Given the description of an element on the screen output the (x, y) to click on. 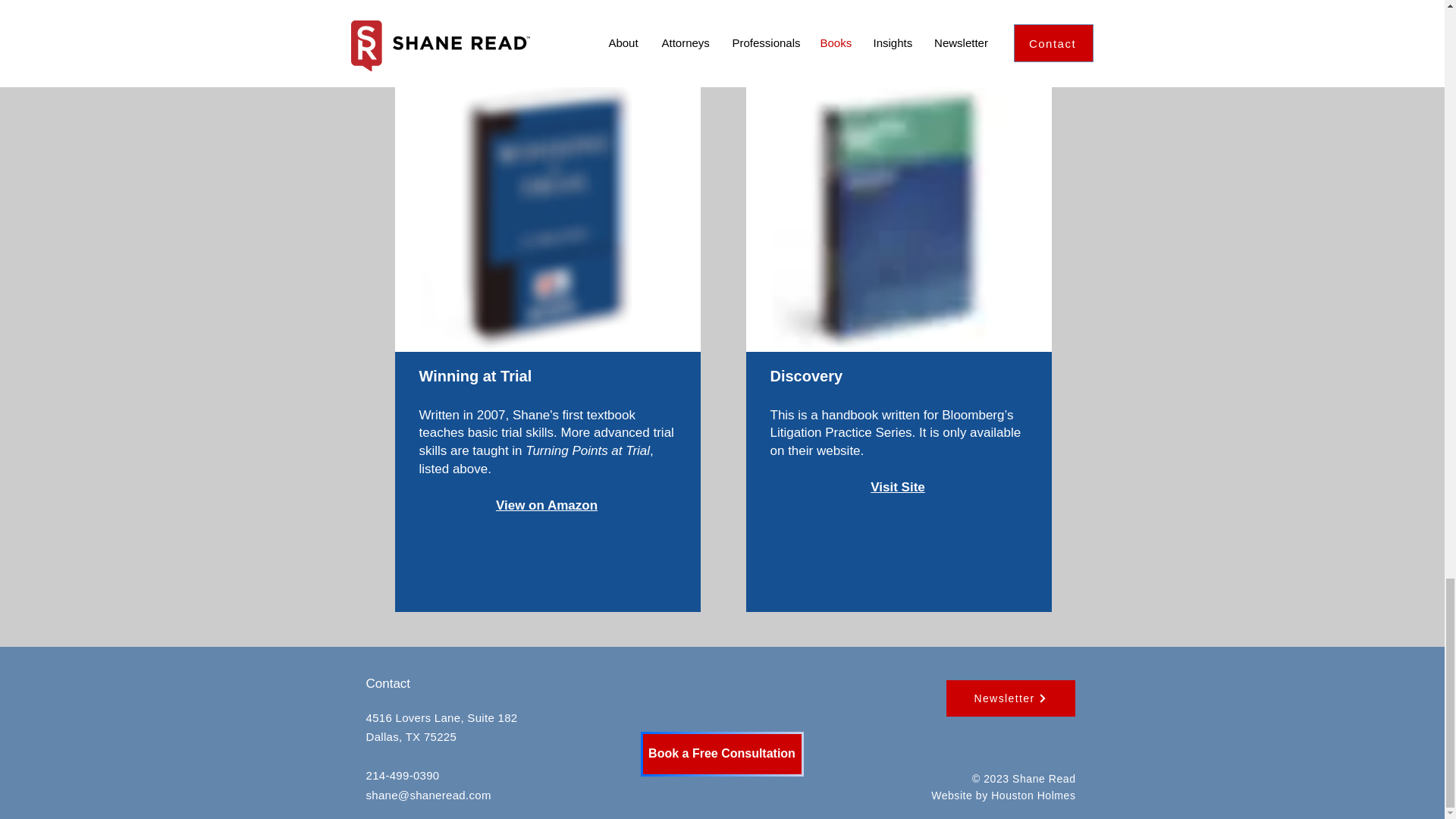
Book a Free Consultation (721, 754)
Visit Site (897, 486)
214-499-0390 (402, 775)
View on Amazon (546, 504)
Contact (387, 683)
Newsletter (1009, 698)
